Given the description of an element on the screen output the (x, y) to click on. 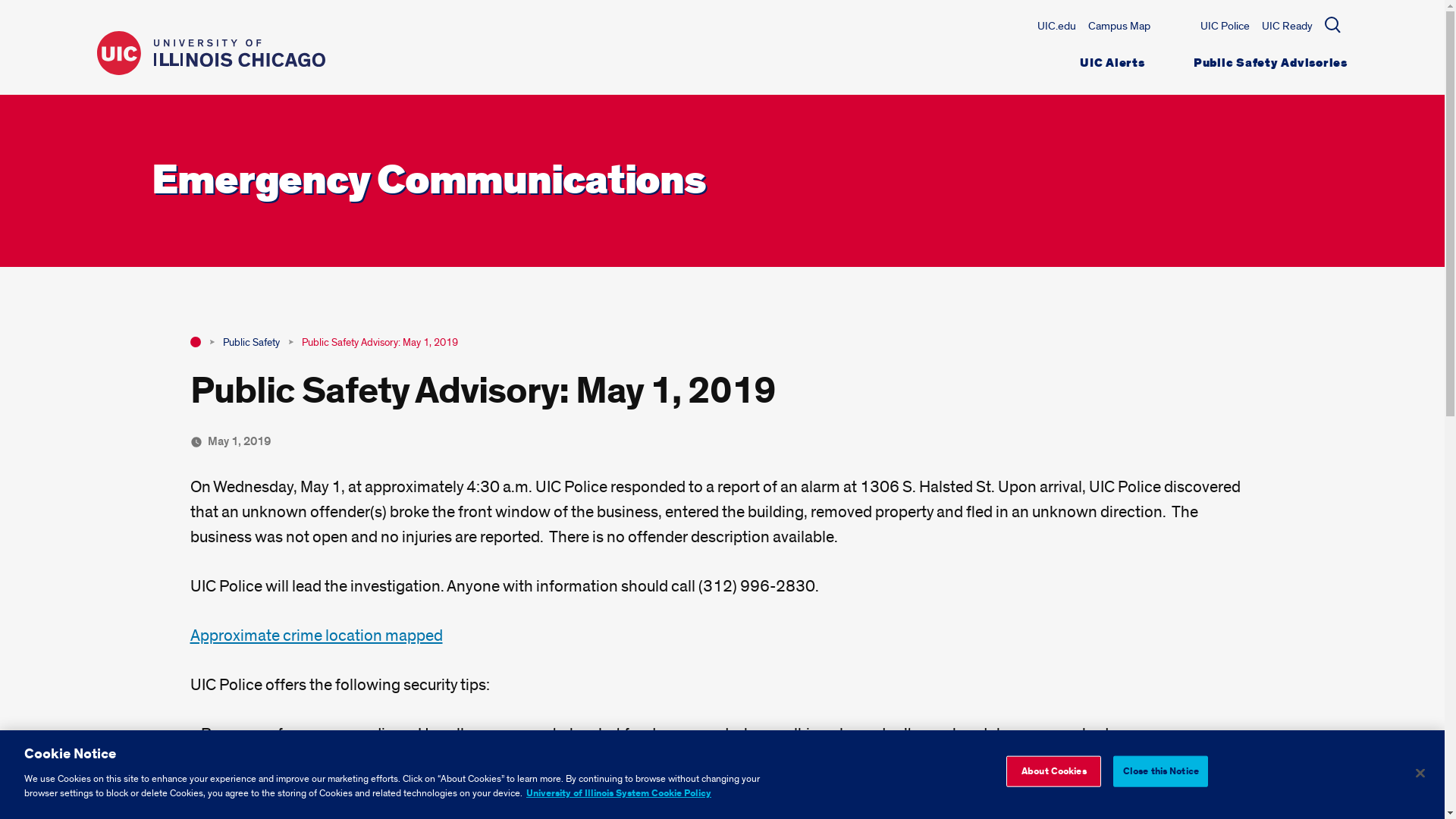
UIC Ready (1287, 25)
May 1, 2019 (239, 441)
UIC.edu (1055, 25)
Emergency Communications (428, 180)
Approximate crime location mapped (315, 635)
UIC Alerts (1112, 63)
UIC Police (1224, 25)
Campus Map (1118, 25)
Public Safety Advisories (1270, 63)
Public Safety (250, 341)
